Given the description of an element on the screen output the (x, y) to click on. 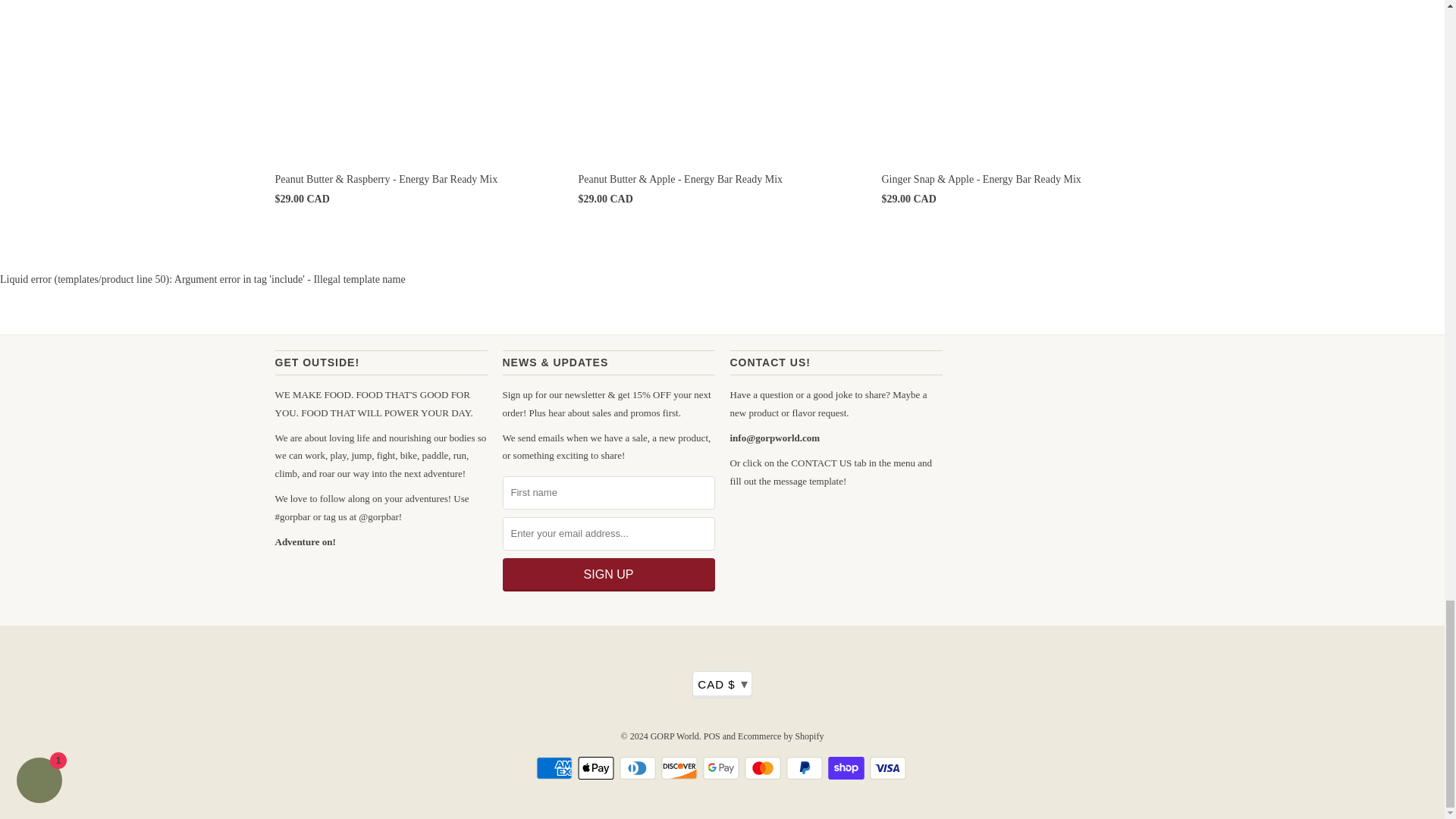
Diners Club (638, 767)
Shop Pay (847, 767)
American Express (555, 767)
Mastercard (764, 767)
Apple Pay (597, 767)
Sign Up (608, 574)
Discover (680, 767)
PayPal (805, 767)
Google Pay (721, 767)
Visa (888, 767)
